Given the description of an element on the screen output the (x, y) to click on. 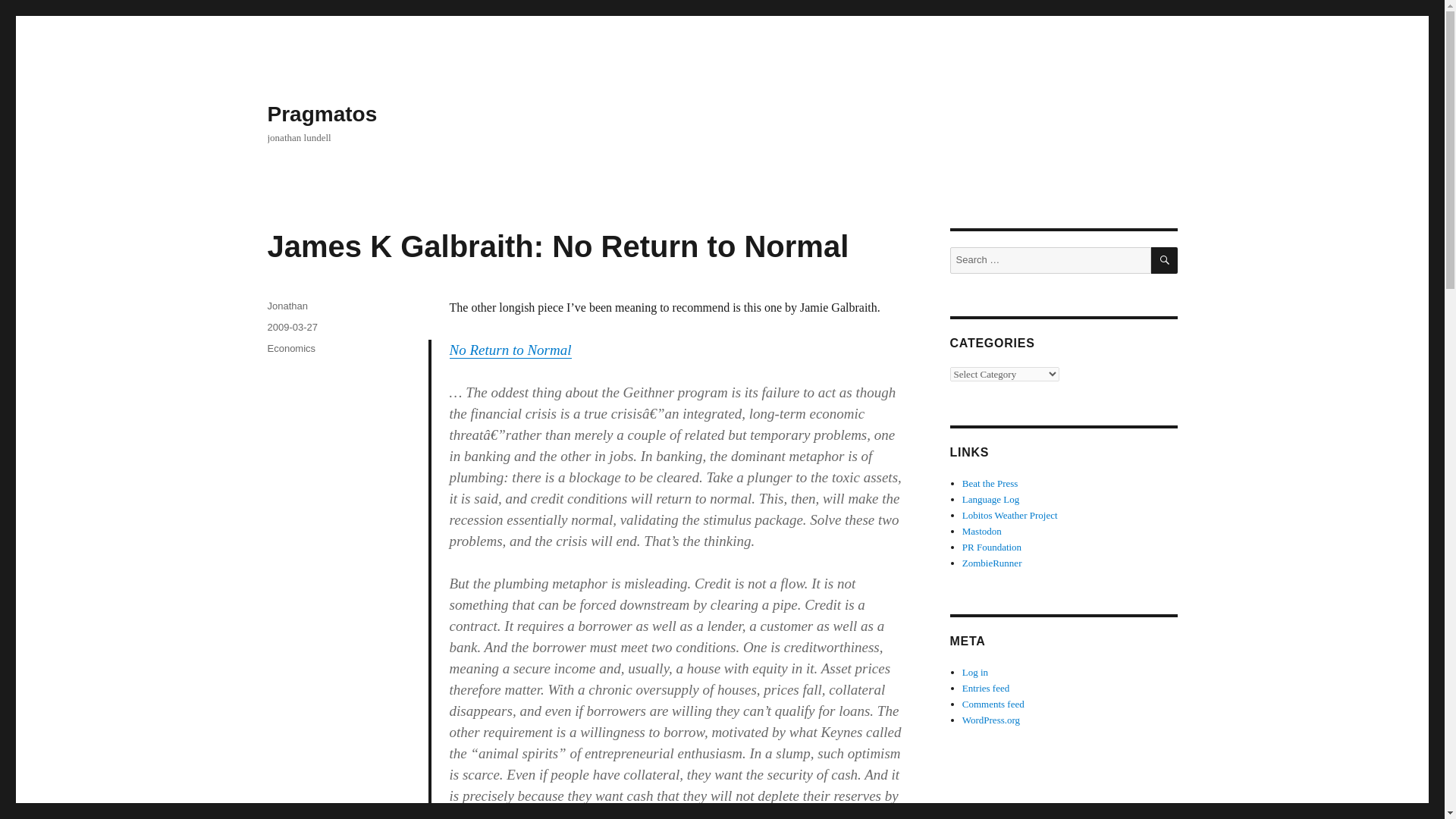
No Return to Normal (510, 349)
Beat the Press (989, 482)
ZombieRunner (992, 562)
Jonathan (286, 306)
Economics (290, 348)
Comments feed (993, 704)
PR Foundation (992, 546)
Log in (975, 672)
SEARCH (1164, 260)
Stuff for people who run. Including coffee. And licorice. (992, 562)
2009-03-27 (291, 326)
WordPress.org (991, 719)
Entries feed (985, 687)
Proportional Representation Foundation (992, 546)
Dean Baker (989, 482)
